Given the description of an element on the screen output the (x, y) to click on. 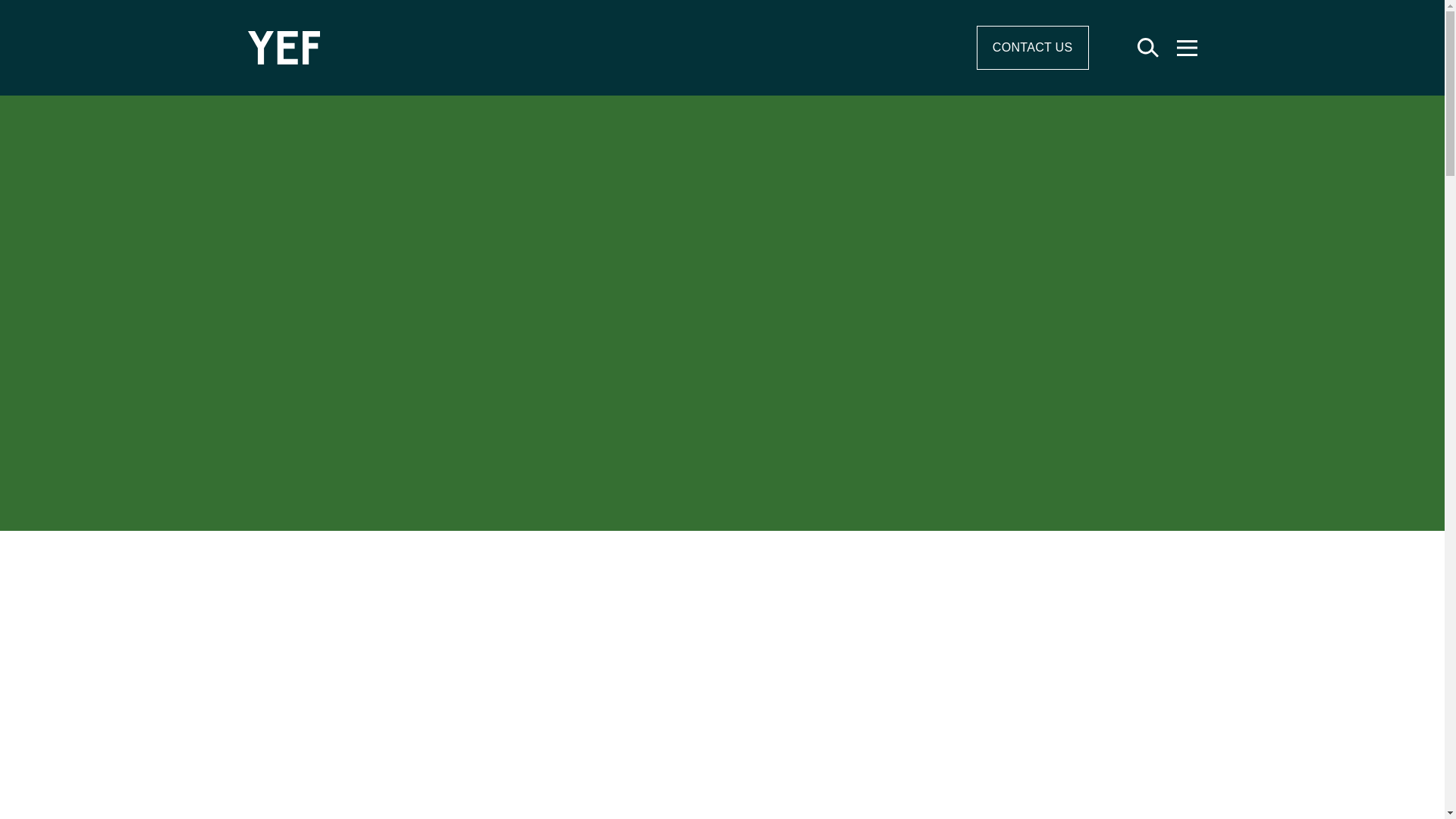
CONTACT US Element type: text (1032, 47)
Return Home Element type: hover (517, 47)
Search the Yarra Energy Foundation Element type: hover (1147, 47)
Open menu Element type: hover (1186, 47)
